Given the description of an element on the screen output the (x, y) to click on. 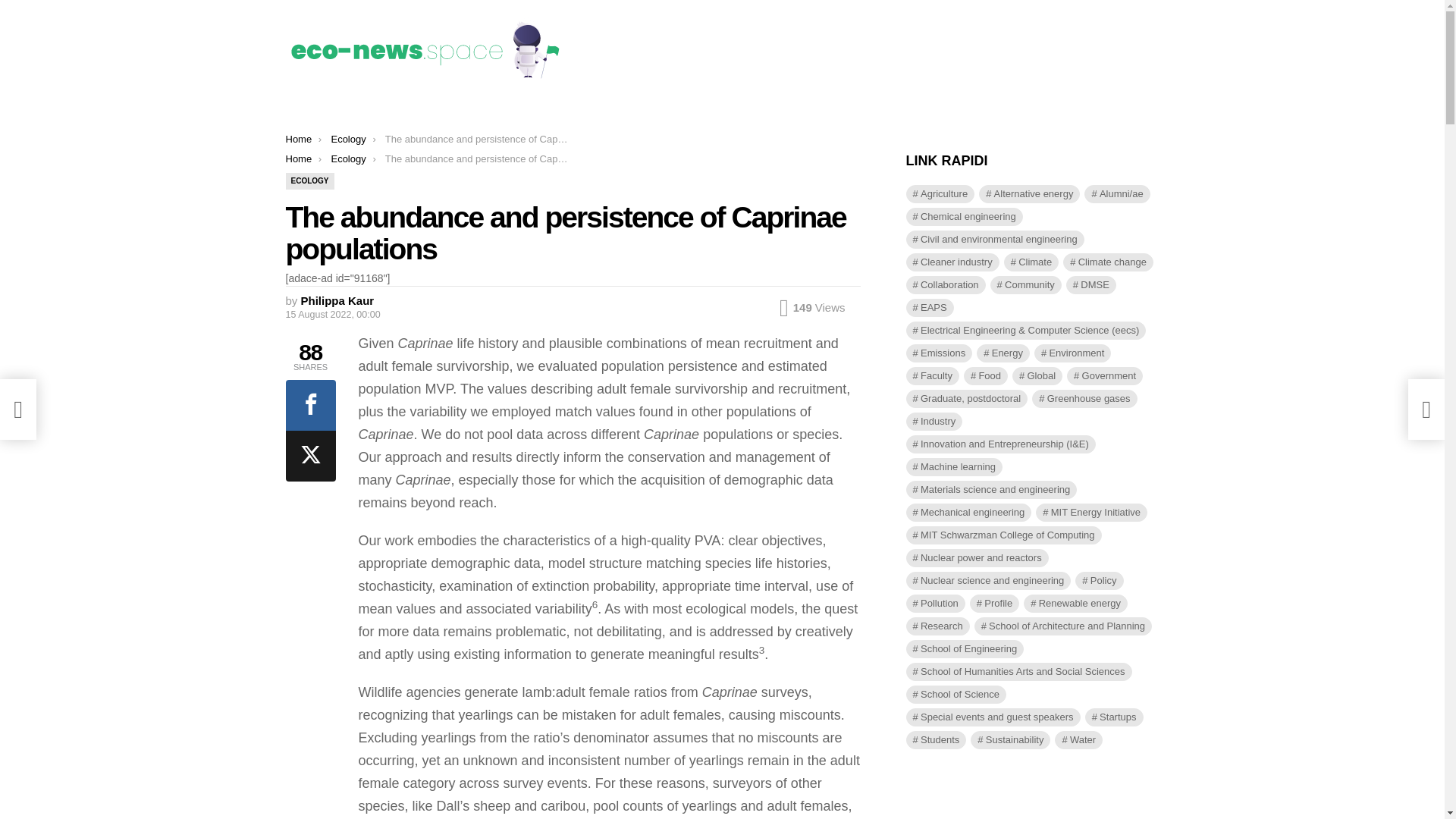
RECYCLING (524, 110)
SECURITY (668, 110)
ENERGY (375, 110)
ENVIRONMENT (446, 110)
Posts by Philippa Kaur (337, 300)
NETWORK (734, 110)
RESOURCES (598, 110)
ECOLOGY (316, 110)
